Given the description of an element on the screen output the (x, y) to click on. 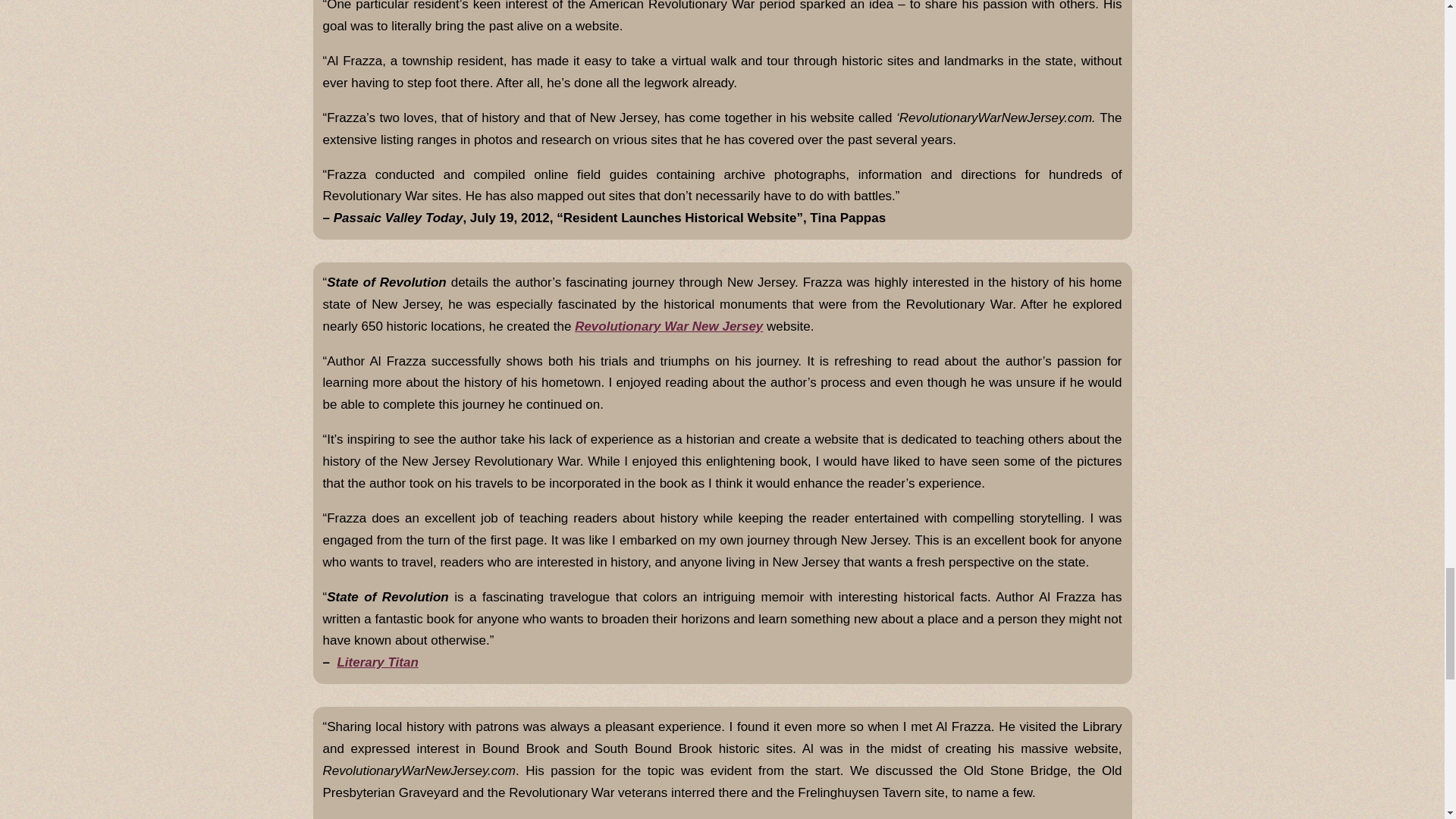
Revolutionary War New Jersey (668, 326)
Literary Titan (376, 662)
